Given the description of an element on the screen output the (x, y) to click on. 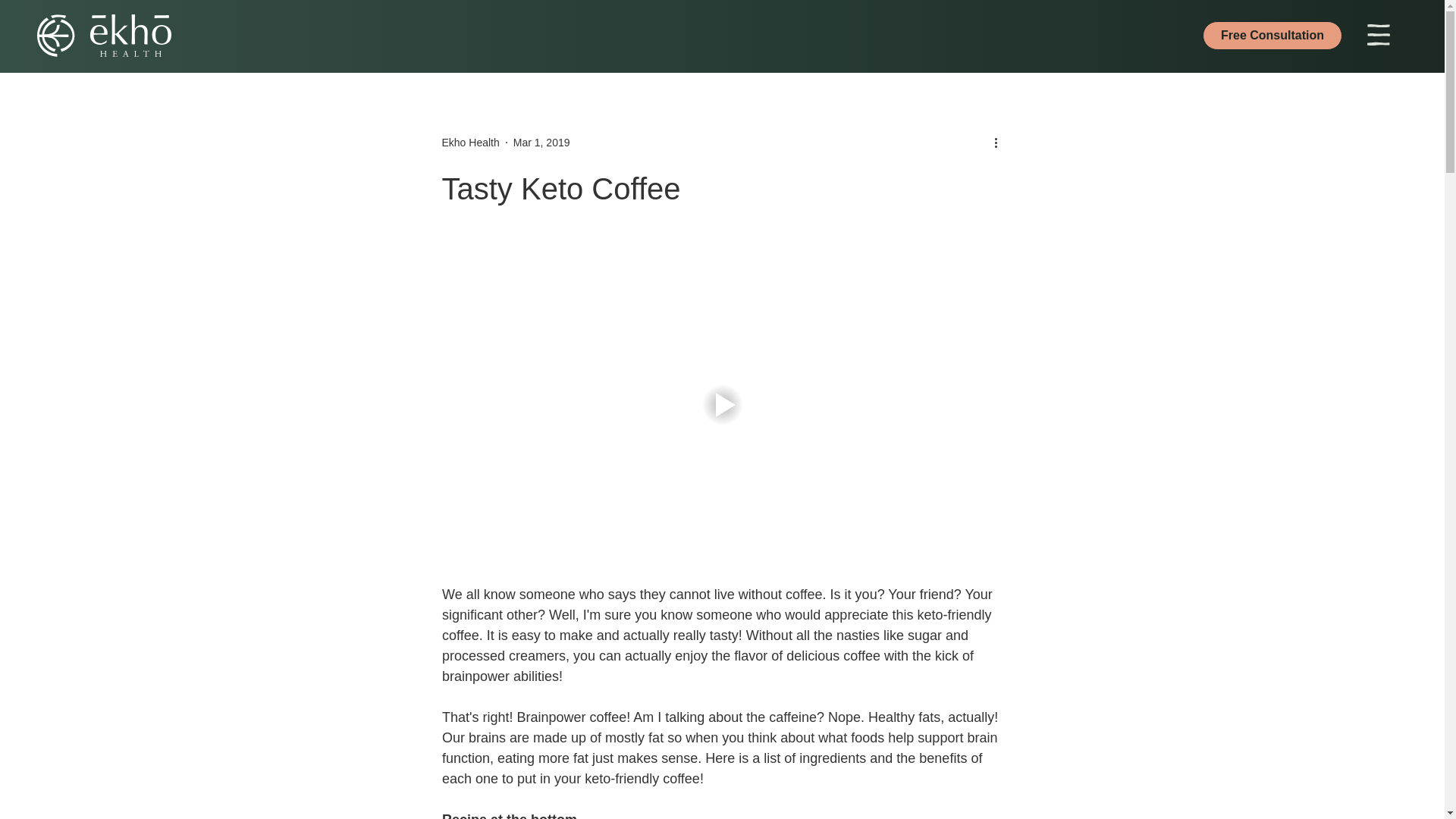
Free Consultation (1272, 35)
Mar 1, 2019 (541, 142)
Ekho Health (470, 142)
